Given the description of an element on the screen output the (x, y) to click on. 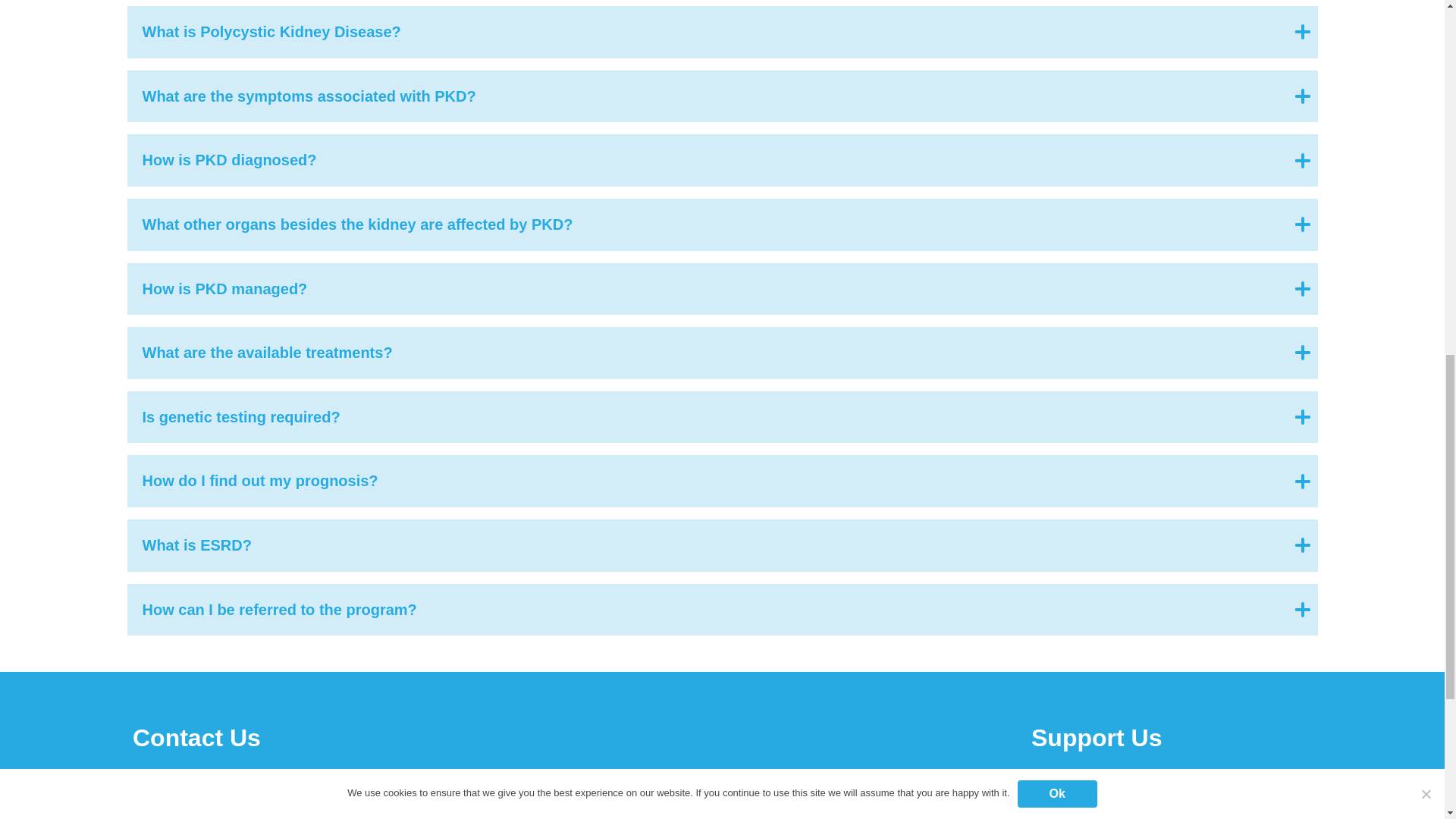
Donate (1098, 816)
